Given the description of an element on the screen output the (x, y) to click on. 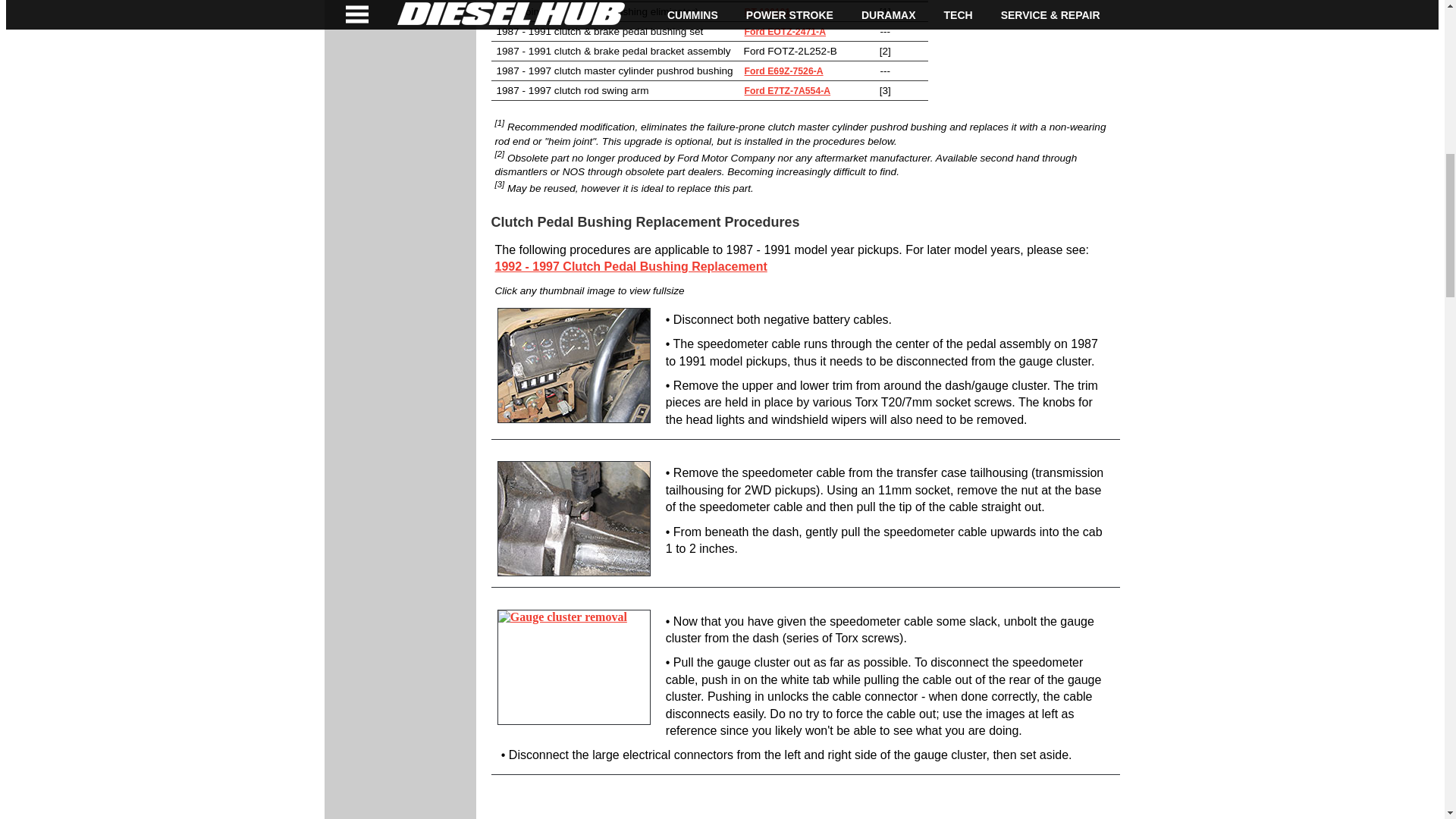
Ford E7TZ-7A554-A (787, 91)
RT-130101 (768, 11)
1992 - 1997 Clutch Pedal Bushing Replacement (631, 266)
Ford EOTZ-2471-A (785, 31)
Ford E69Z-7526-A (784, 70)
